Given the description of an element on the screen output the (x, y) to click on. 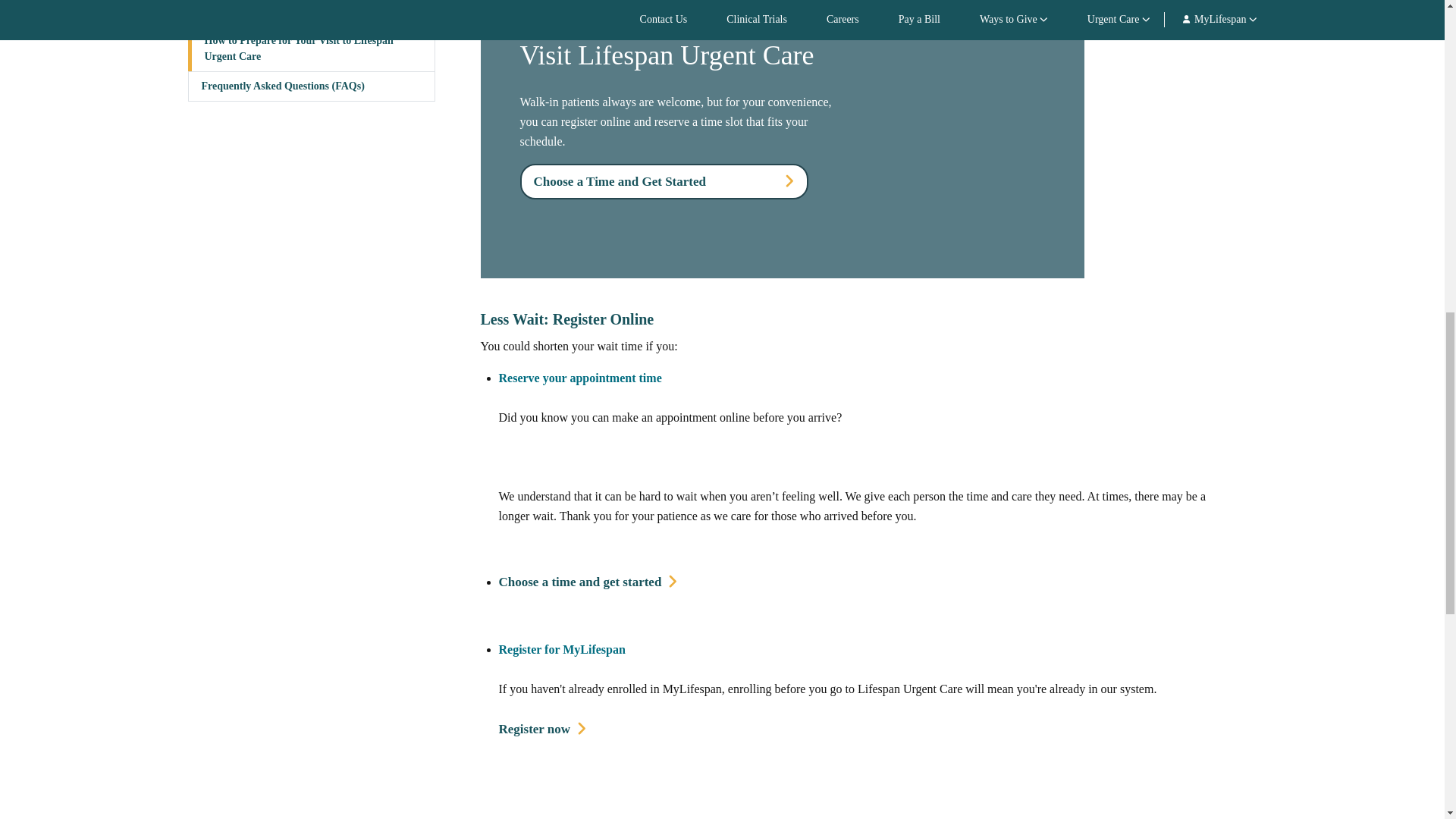
Schedule an appointment with Lifespan Urgent Care (588, 582)
Register for MyLifespan (562, 649)
Make an Appointment at Lifespan Urgent Care (663, 181)
Reserve your appointment time (580, 377)
Register Now for MyLifespan (542, 730)
